Given the description of an element on the screen output the (x, y) to click on. 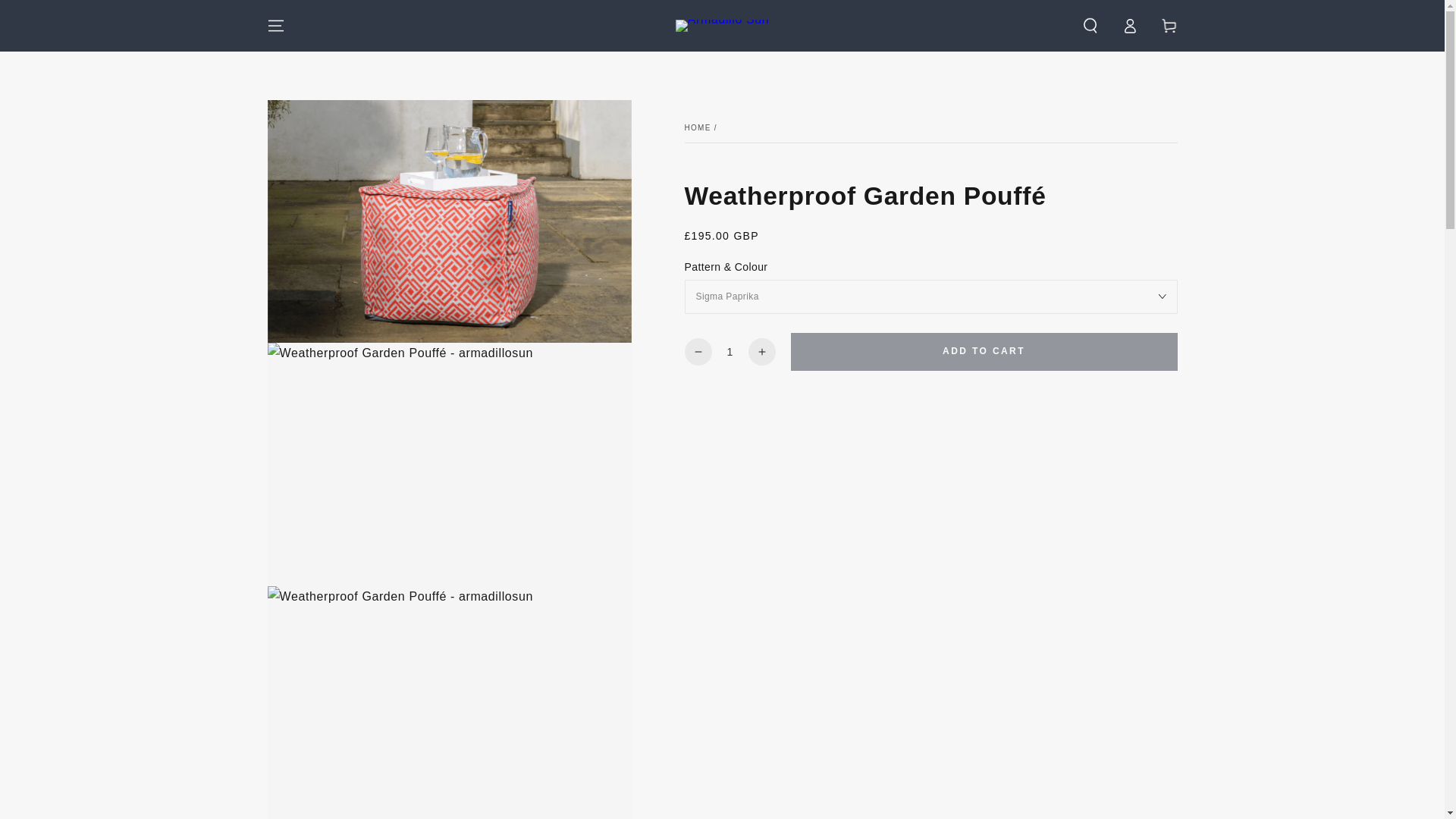
Back to the frontpage (697, 127)
SKIP TO CONTENT (67, 14)
1 (729, 351)
